Given the description of an element on the screen output the (x, y) to click on. 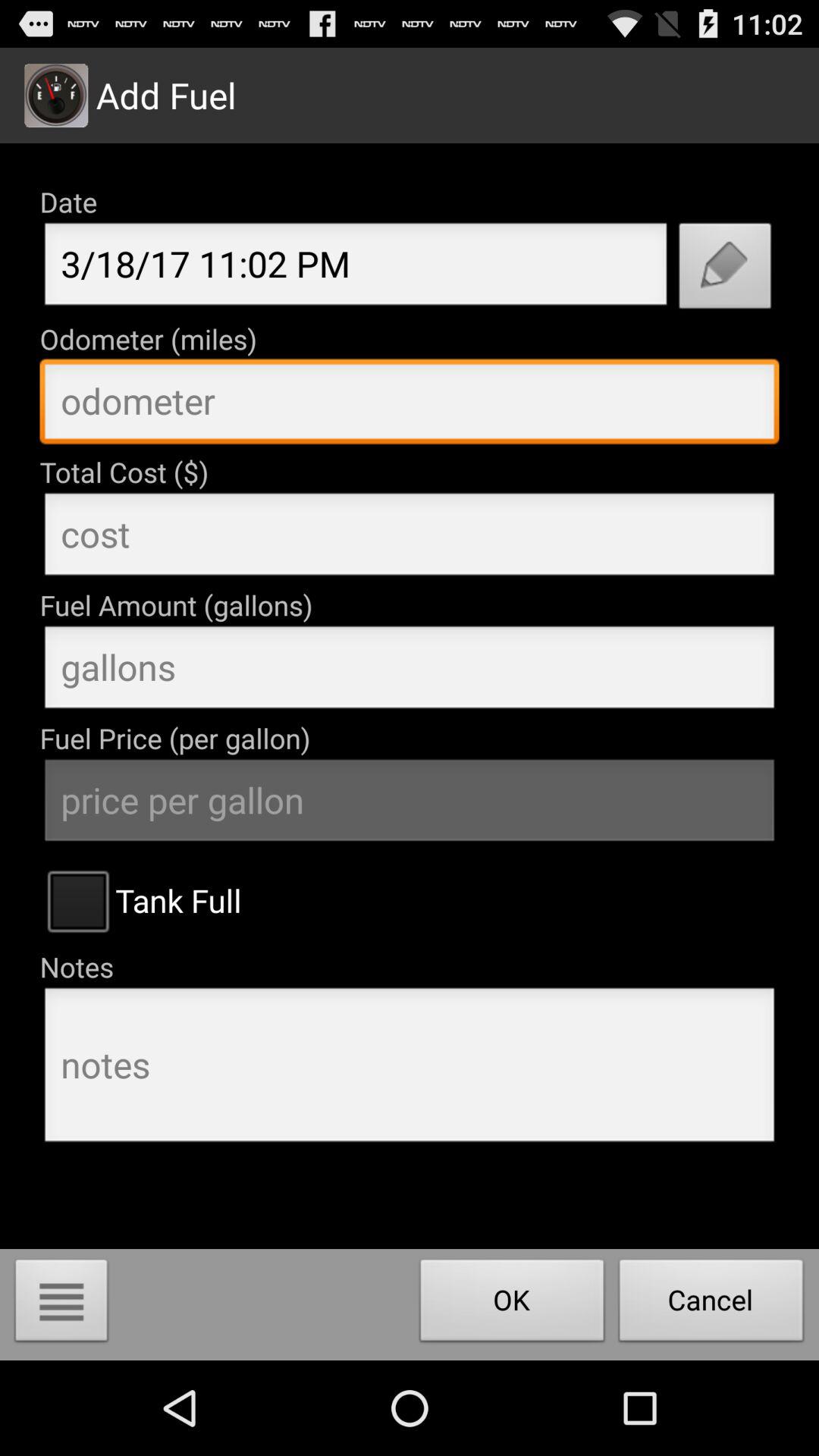
click to type (409, 671)
